Given the description of an element on the screen output the (x, y) to click on. 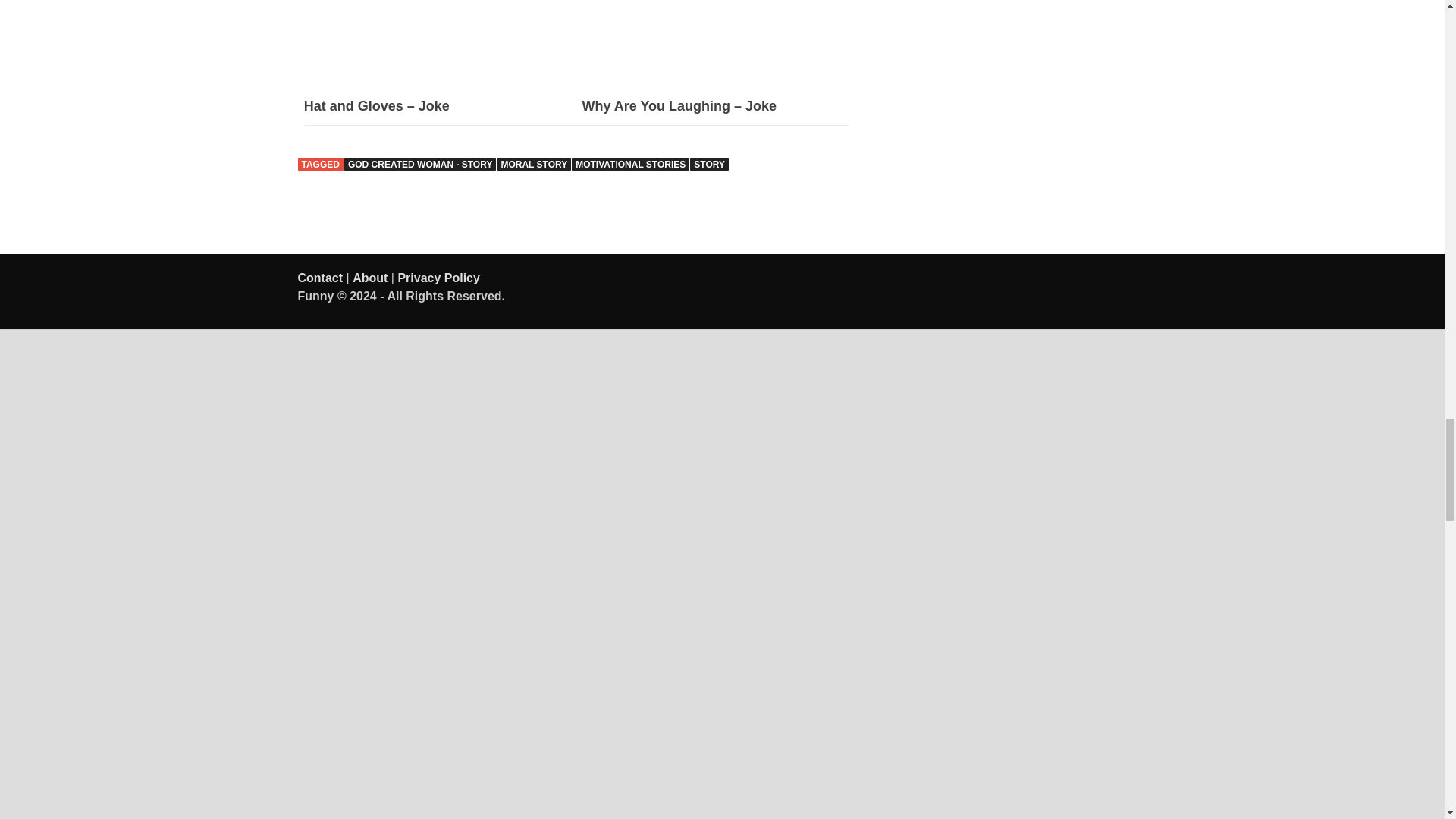
MOTIVATIONAL STORIES (630, 164)
STORY (709, 164)
MORAL STORY (533, 164)
GOD CREATED WOMAN - STORY (419, 164)
